Given the description of an element on the screen output the (x, y) to click on. 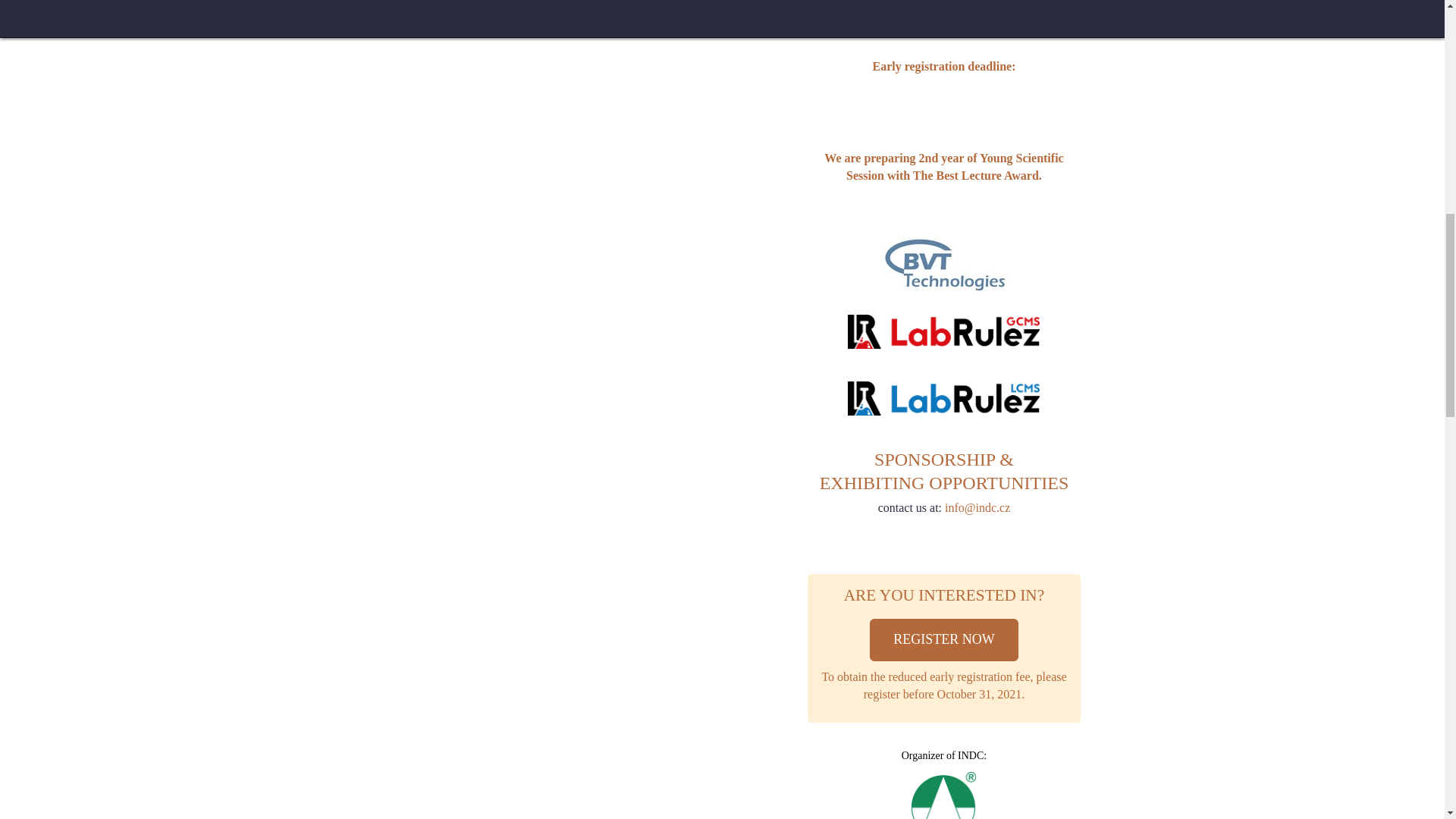
REGISTER NOW (943, 639)
